Given the description of an element on the screen output the (x, y) to click on. 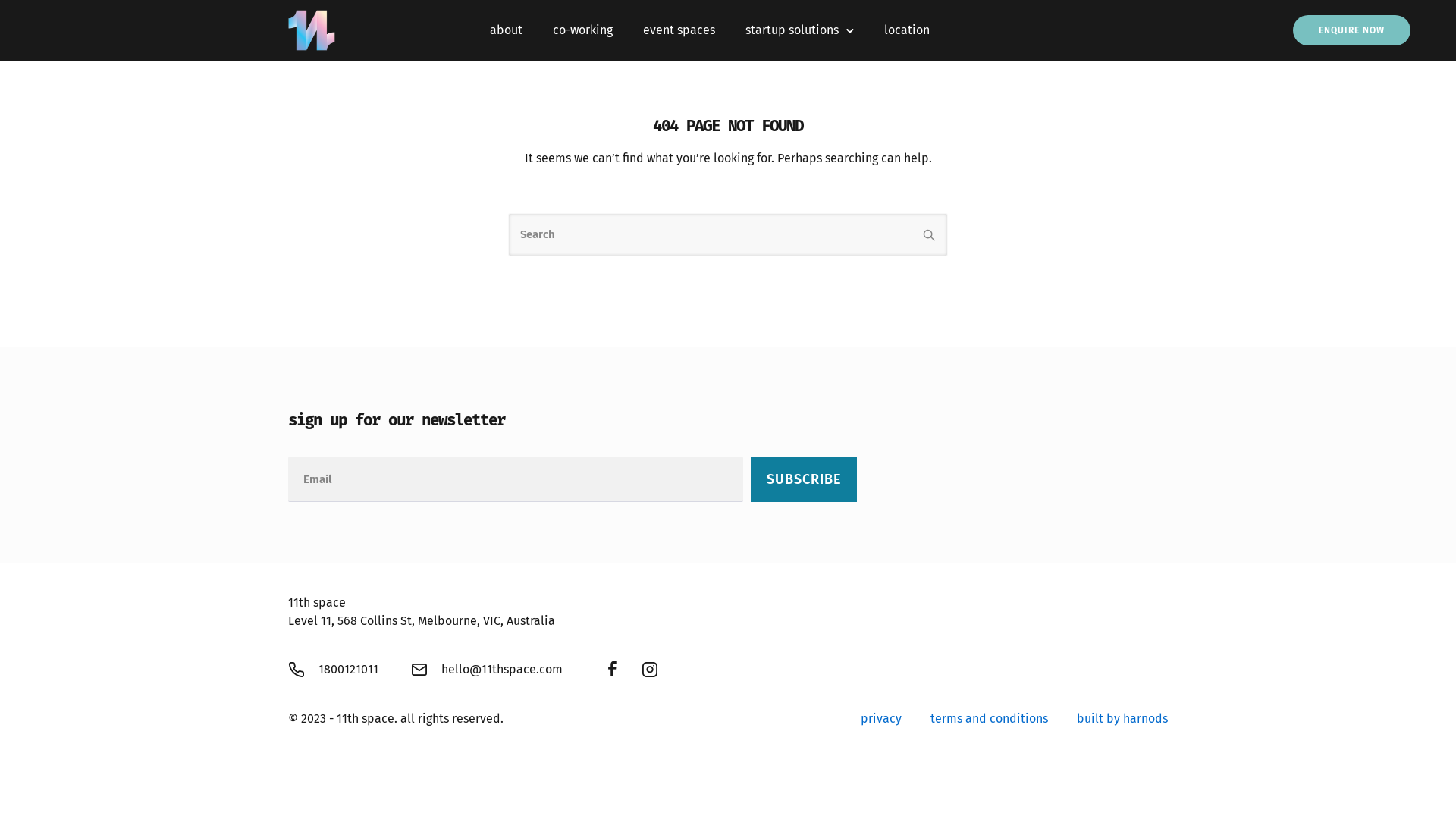
event spaces Element type: text (678, 29)
1800121011 Element type: text (348, 669)
privacy Element type: text (880, 718)
co-working Element type: text (582, 29)
Subscribe Element type: text (803, 479)
built by harnods Element type: text (1121, 718)
terms and conditions Element type: text (989, 718)
about Element type: text (506, 29)
startup solutions Element type: text (791, 29)
location Element type: text (906, 29)
hello@11thspace.com Element type: text (501, 669)
ENQUIRE NOW Element type: text (1351, 30)
